Given the description of an element on the screen output the (x, y) to click on. 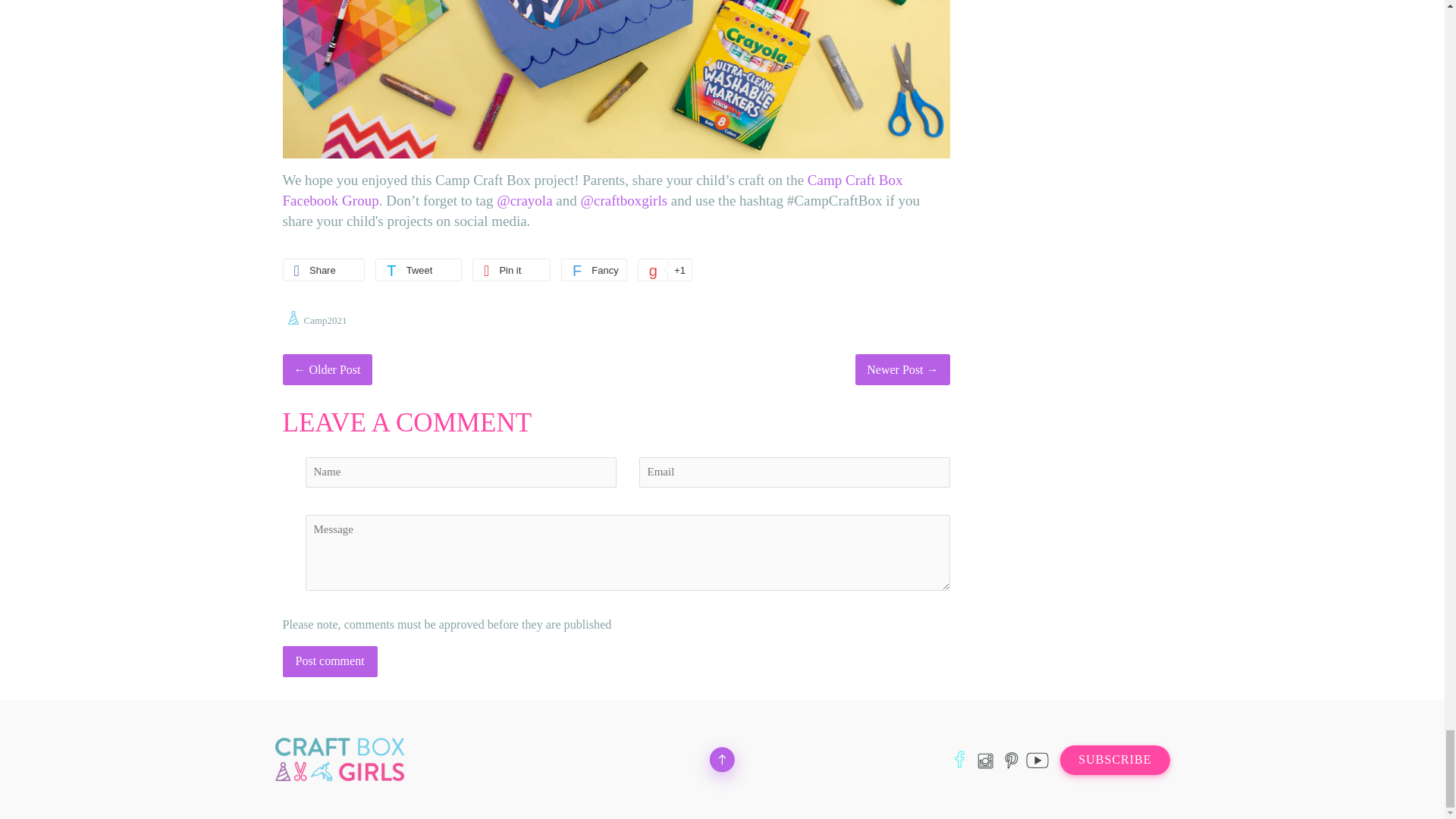
Craft Box Girls on Instagram (985, 760)
Craft Box Girls on YouTube (1036, 760)
Craft Box Girls on Facebook (959, 760)
Craft Box Girls on Pinterest (1010, 760)
Post comment (329, 661)
